Given the description of an element on the screen output the (x, y) to click on. 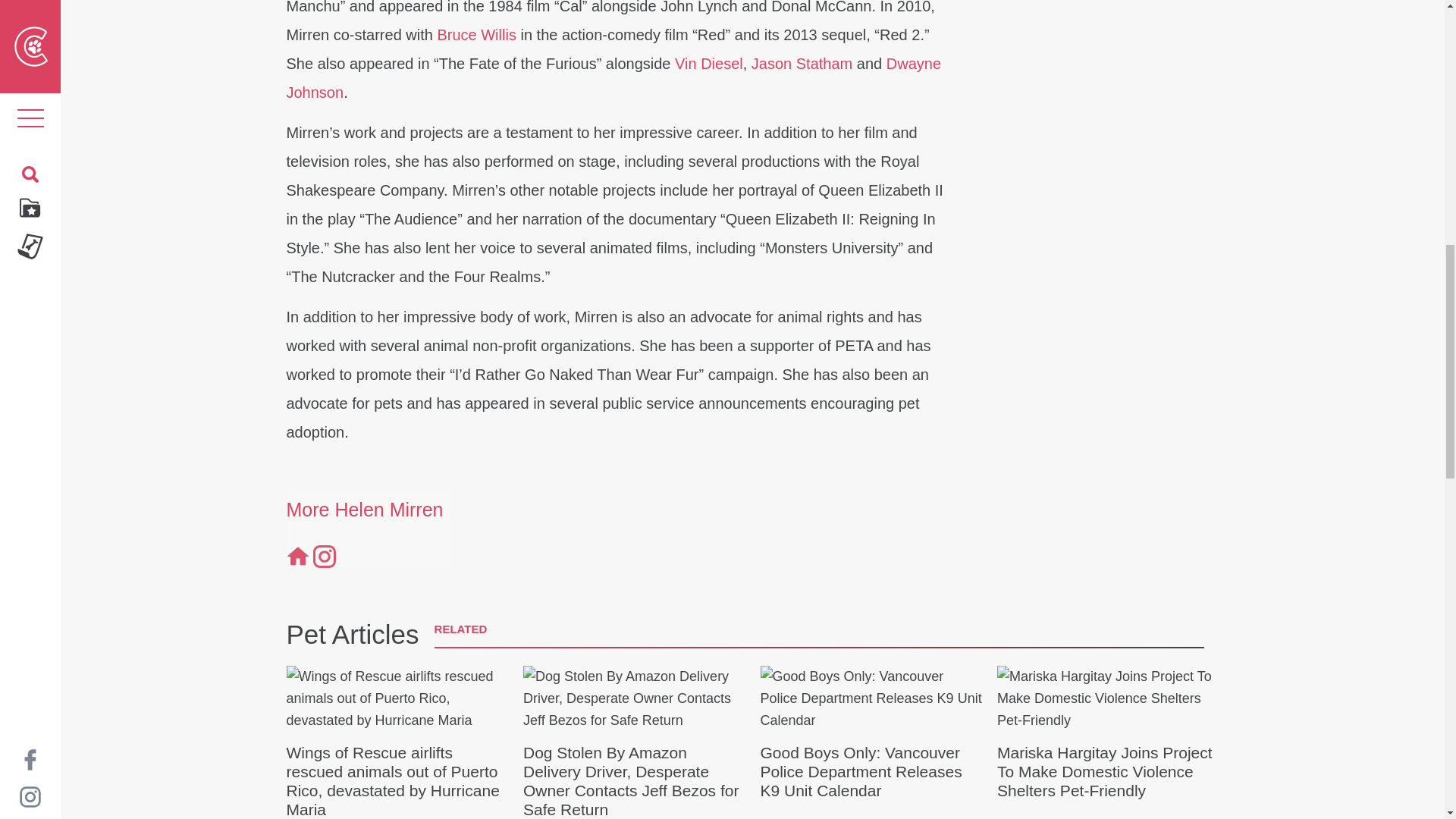
Helen Mirren's Instagram (323, 555)
Helen Mirren's Website (297, 555)
